Given the description of an element on the screen output the (x, y) to click on. 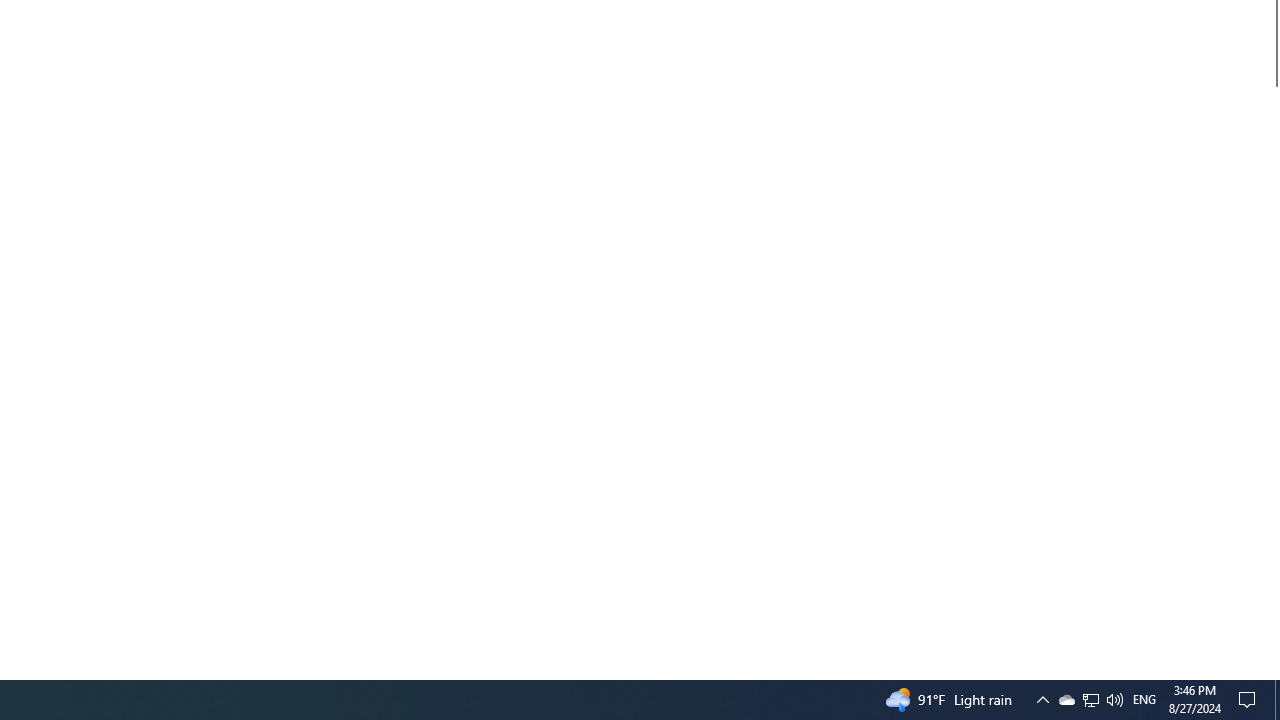
Vertical Large Increase (1272, 375)
Vertical Small Increase (1272, 671)
